Given the description of an element on the screen output the (x, y) to click on. 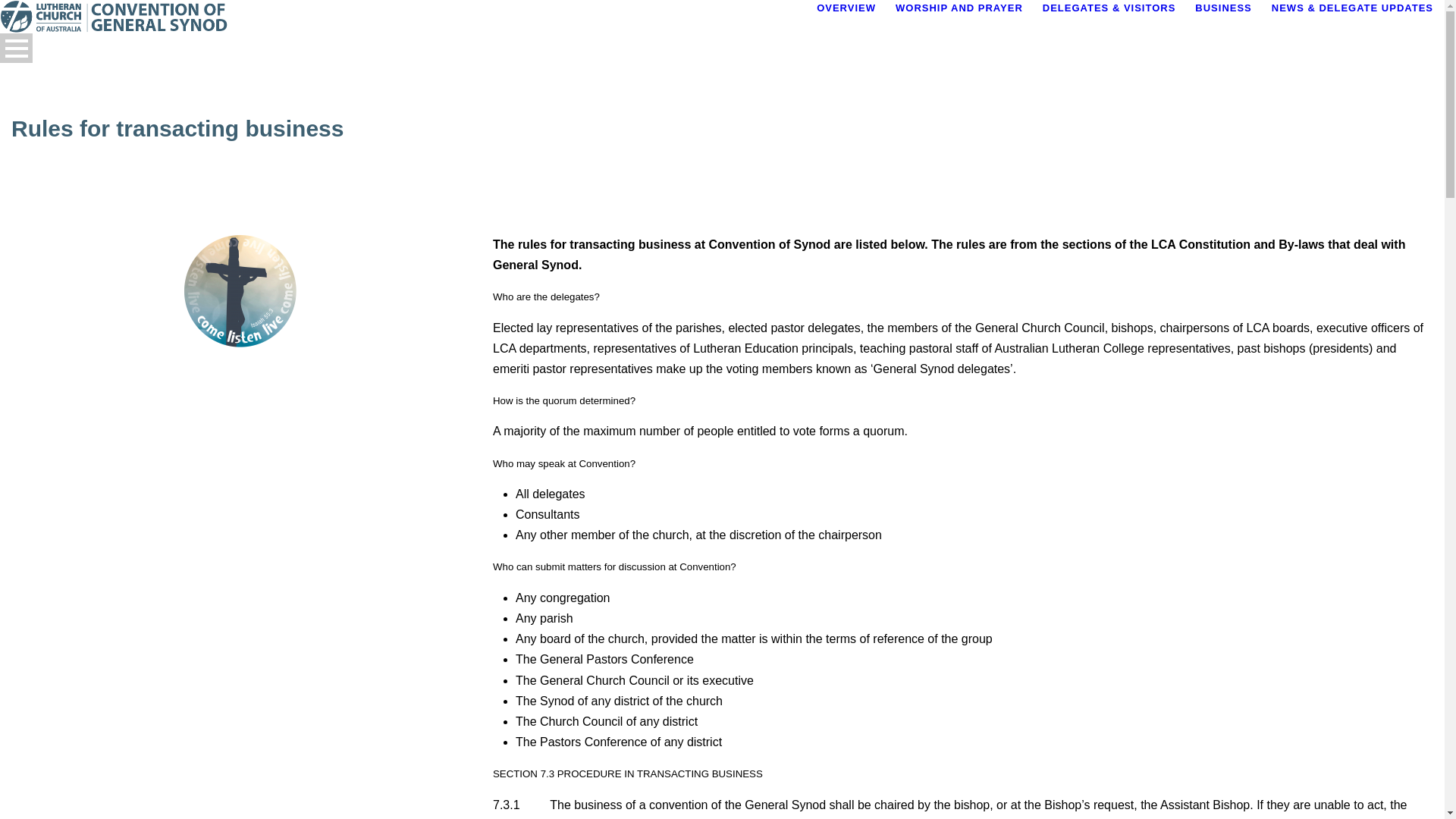
Open Menu Element type: text (16, 47)
BUSINESS Element type: text (1232, 25)
OVERVIEW Element type: text (855, 25)
WORSHIP AND PRAYER Element type: text (968, 25)
DELEGATES & VISITORS Element type: text (1118, 25)
NEWS & DELEGATE UPDATES Element type: text (1352, 25)
